Given the description of an element on the screen output the (x, y) to click on. 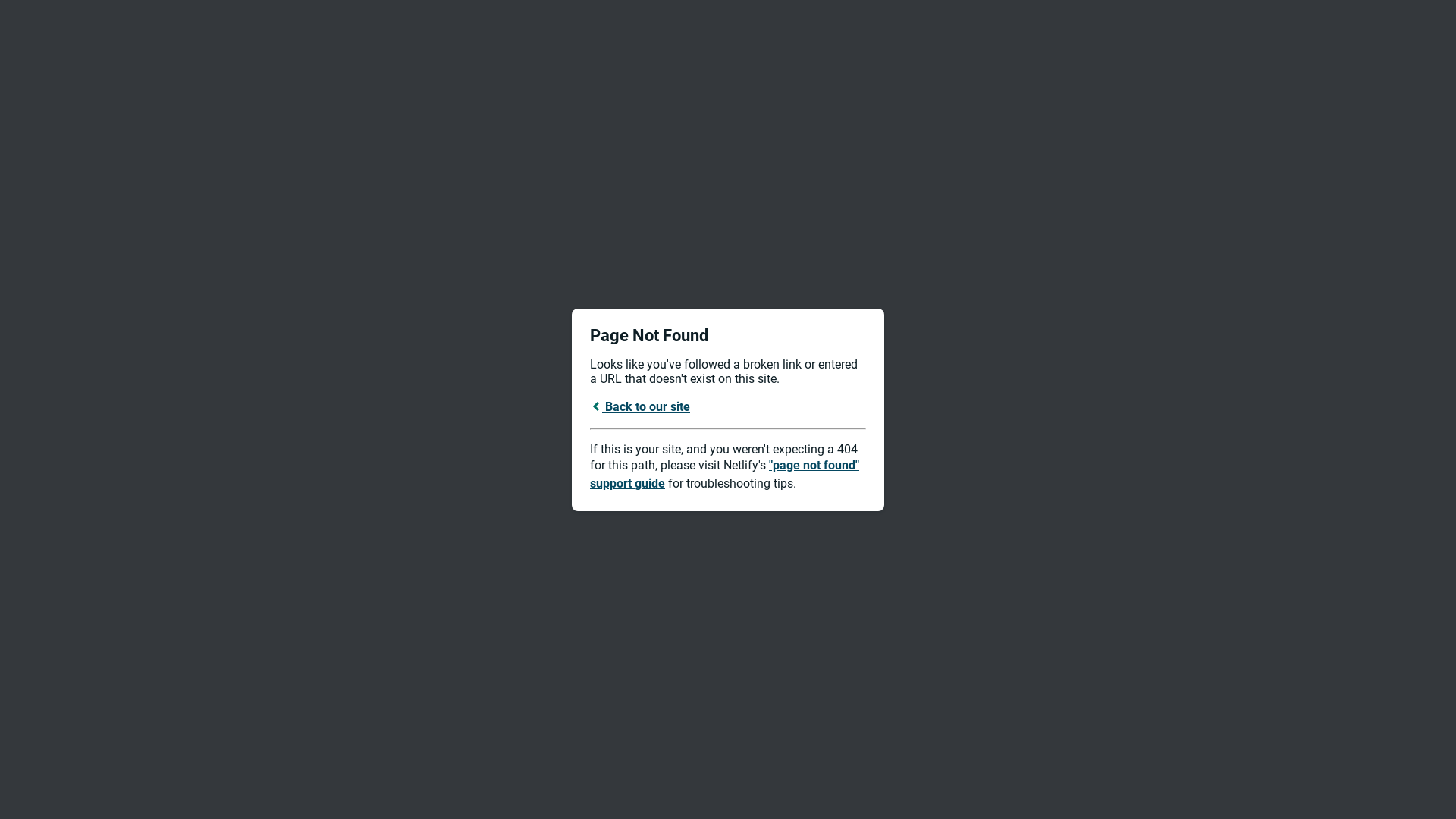
Back to our site Element type: text (639, 405)
"page not found" support guide Element type: text (724, 474)
